Given the description of an element on the screen output the (x, y) to click on. 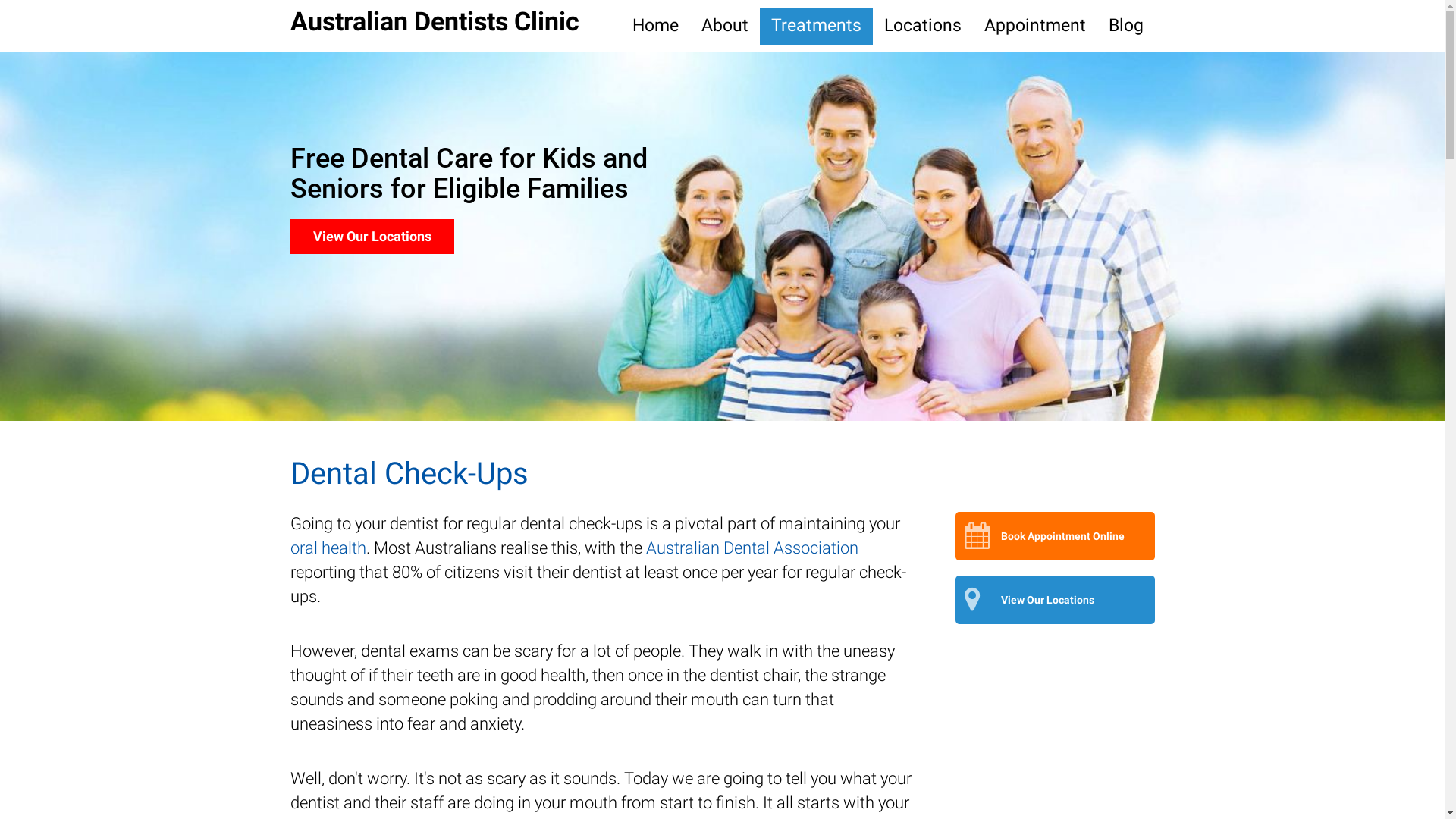
oral health Element type: text (327, 547)
Treatments Element type: text (815, 25)
View Our Locations Element type: text (1054, 599)
Book Appointment Online Element type: text (390, 236)
Australian Dental Association Element type: text (752, 547)
Blog Element type: text (1125, 25)
Australian Dentists Clinic Element type: text (433, 21)
Appointment Element type: text (1034, 25)
Home Element type: text (654, 25)
Book Appointment Online Element type: text (1054, 535)
Locations Element type: text (922, 25)
About Element type: text (724, 25)
